Given the description of an element on the screen output the (x, y) to click on. 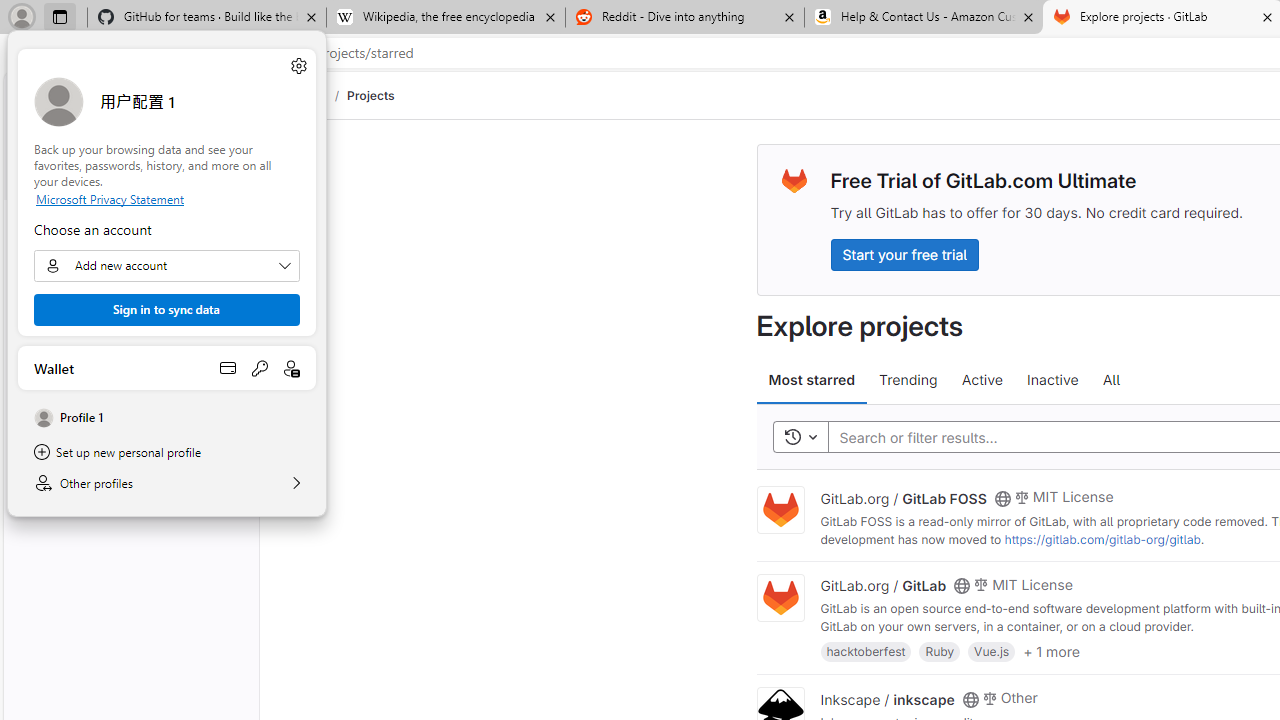
Wallet (166, 368)
Help & Contact Us - Amazon Customer Service (924, 17)
